Given the description of an element on the screen output the (x, y) to click on. 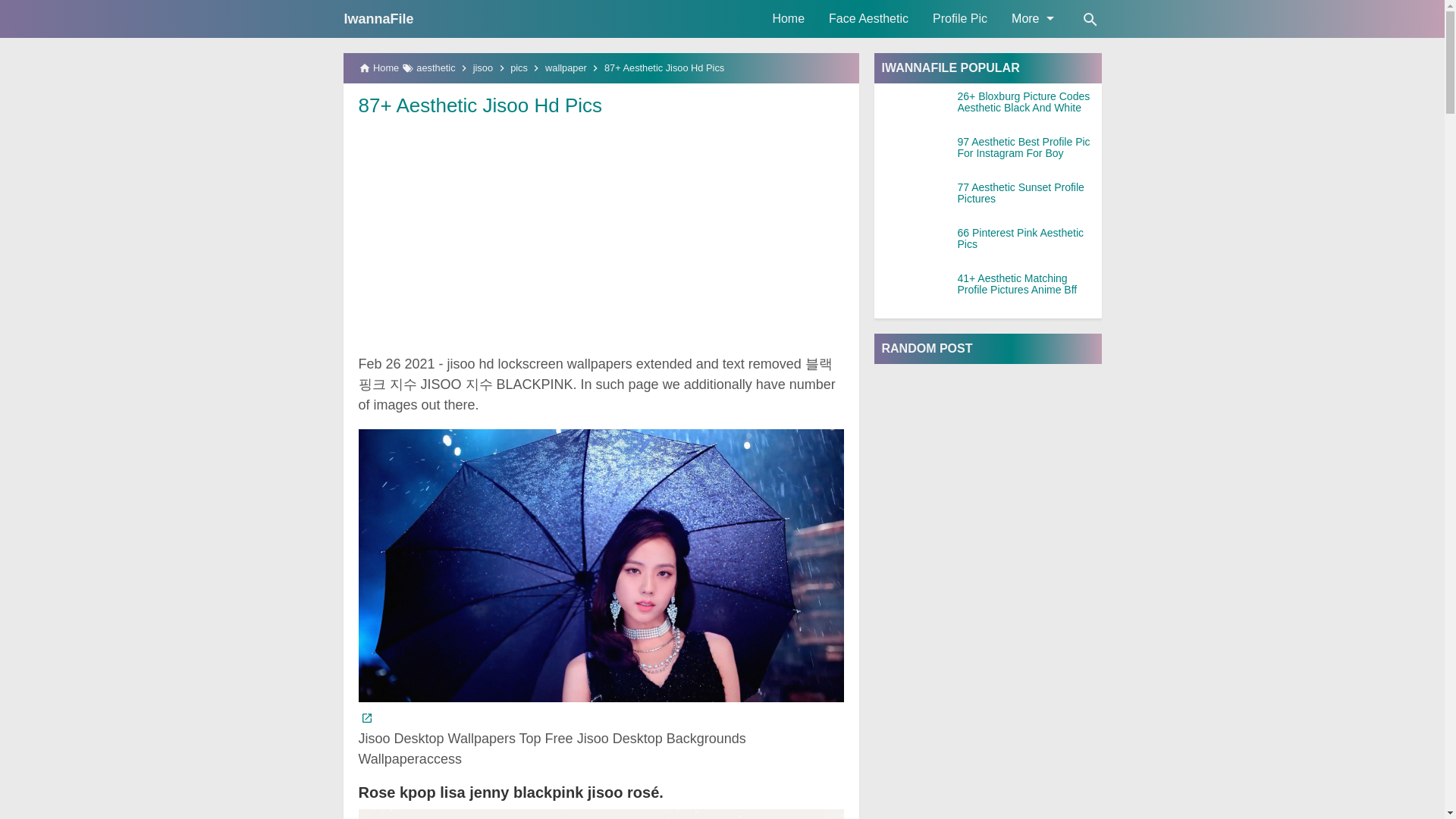
Home (788, 18)
wallpaper (565, 68)
IwannaFile (378, 18)
Face Aesthetic (868, 18)
Home (788, 18)
66 Pinterest Pink Aesthetic Pics (1028, 238)
Profile Pic (959, 18)
wallpaper (565, 68)
77 Aesthetic Sunset Profile Pictures (1028, 193)
Face Aesthetic (868, 18)
